Given the description of an element on the screen output the (x, y) to click on. 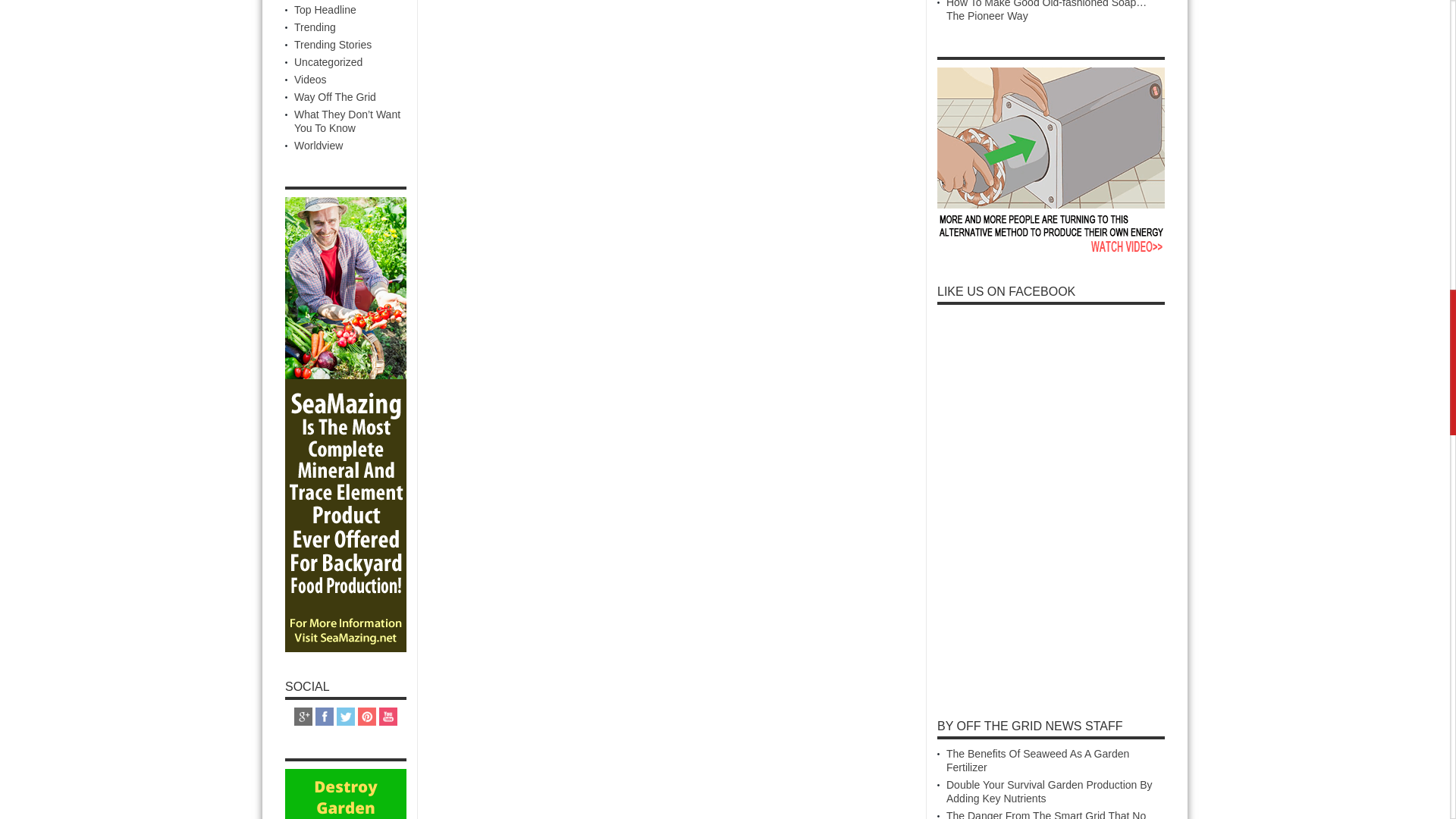
The Benefits Of Seaweed As A Garden Fertilizer (1037, 760)
The Danger From The Smart Grid That No One Is Talking About (1045, 814)
